Given the description of an element on the screen output the (x, y) to click on. 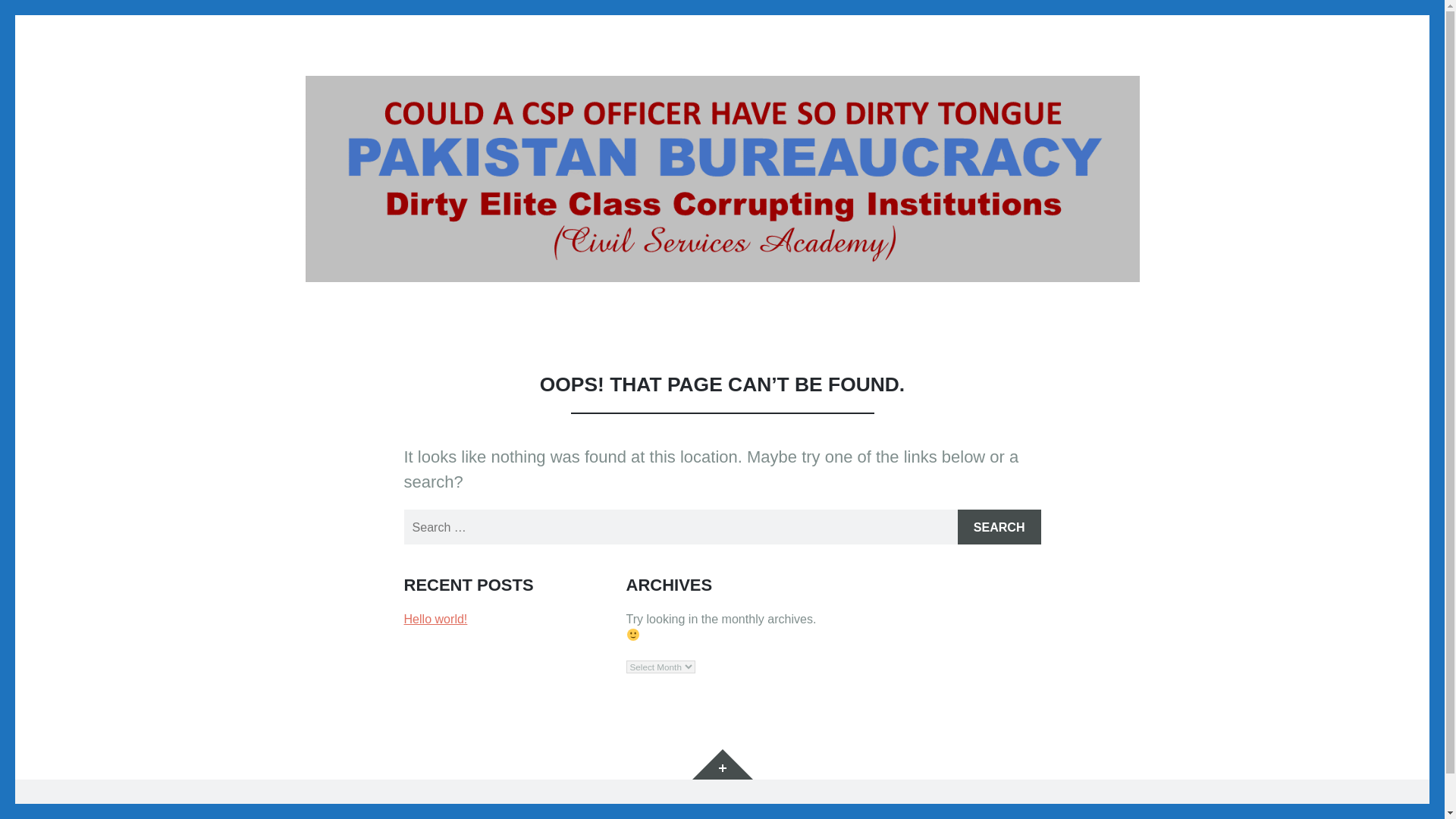
Search (999, 526)
WordPress.com (635, 809)
Search (999, 526)
Search (999, 526)
Proudly powered by WordPress (390, 809)
Hello world! (435, 618)
Widgets (721, 764)
